Given the description of an element on the screen output the (x, y) to click on. 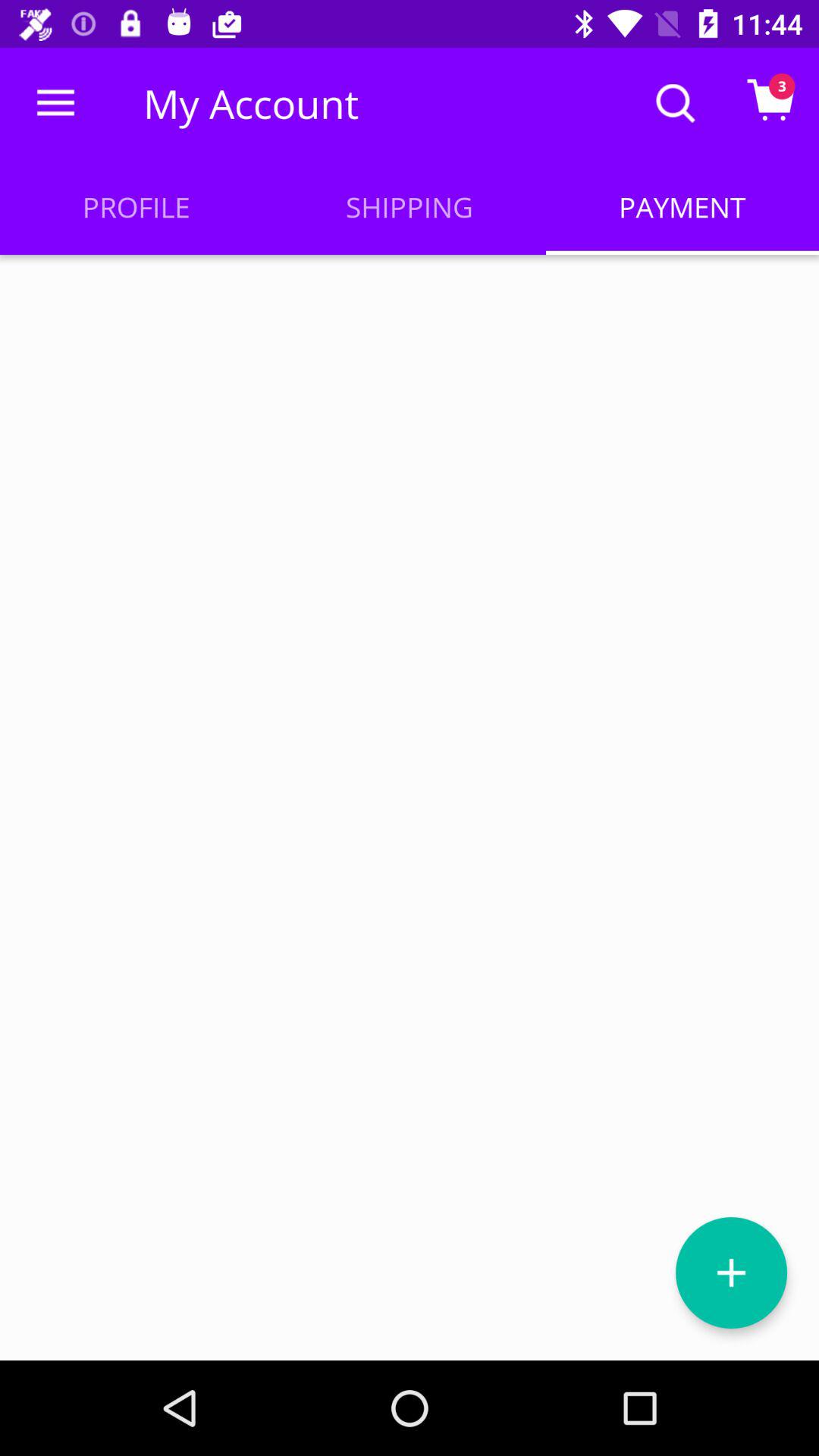
press the item to the left of my account icon (55, 103)
